Given the description of an element on the screen output the (x, y) to click on. 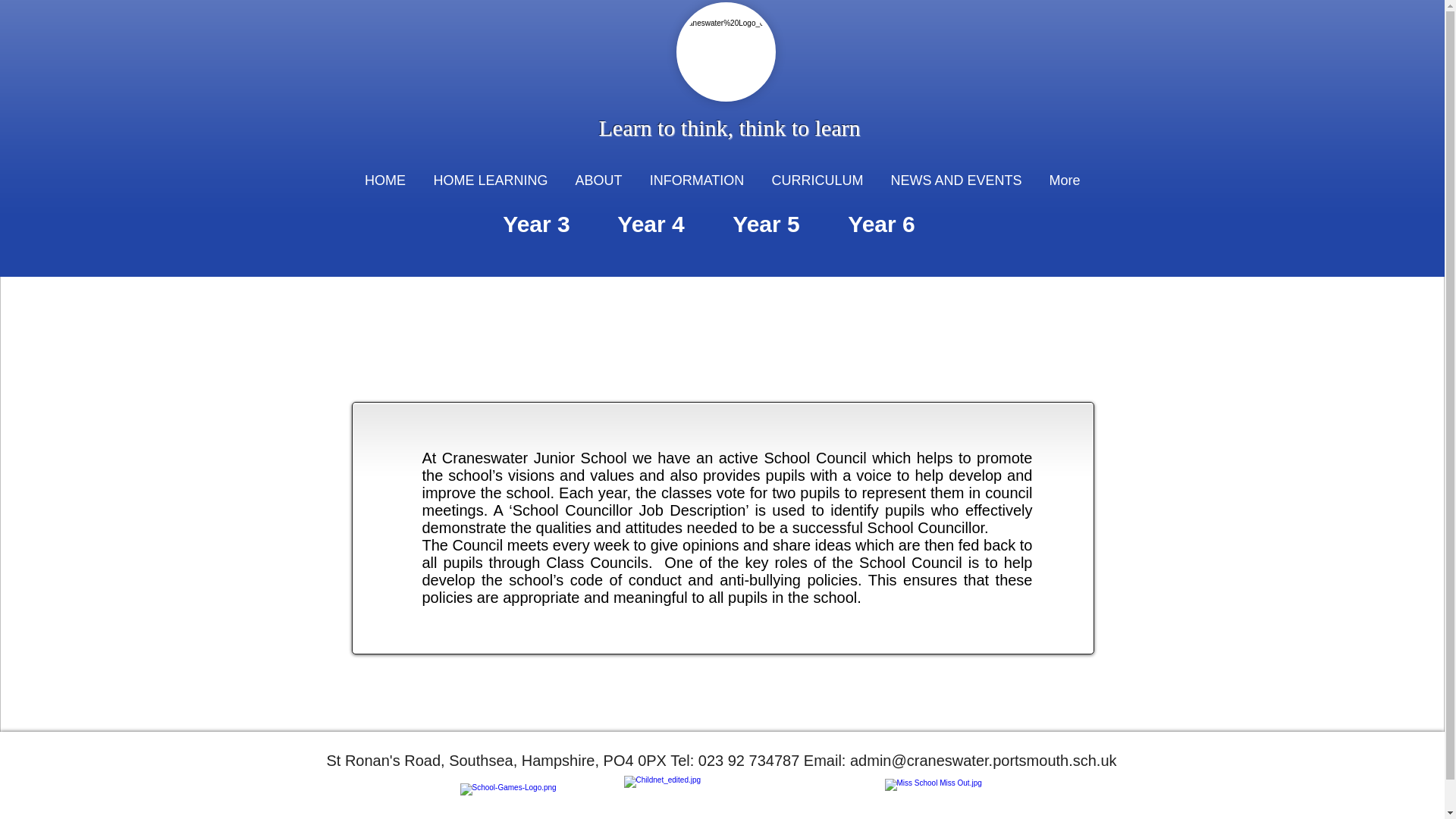
Year 4 (650, 223)
HOME LEARNING (491, 180)
Year 6 (882, 223)
Year 5 (767, 223)
Year 3 (535, 223)
HOME (384, 180)
